Given the description of an element on the screen output the (x, y) to click on. 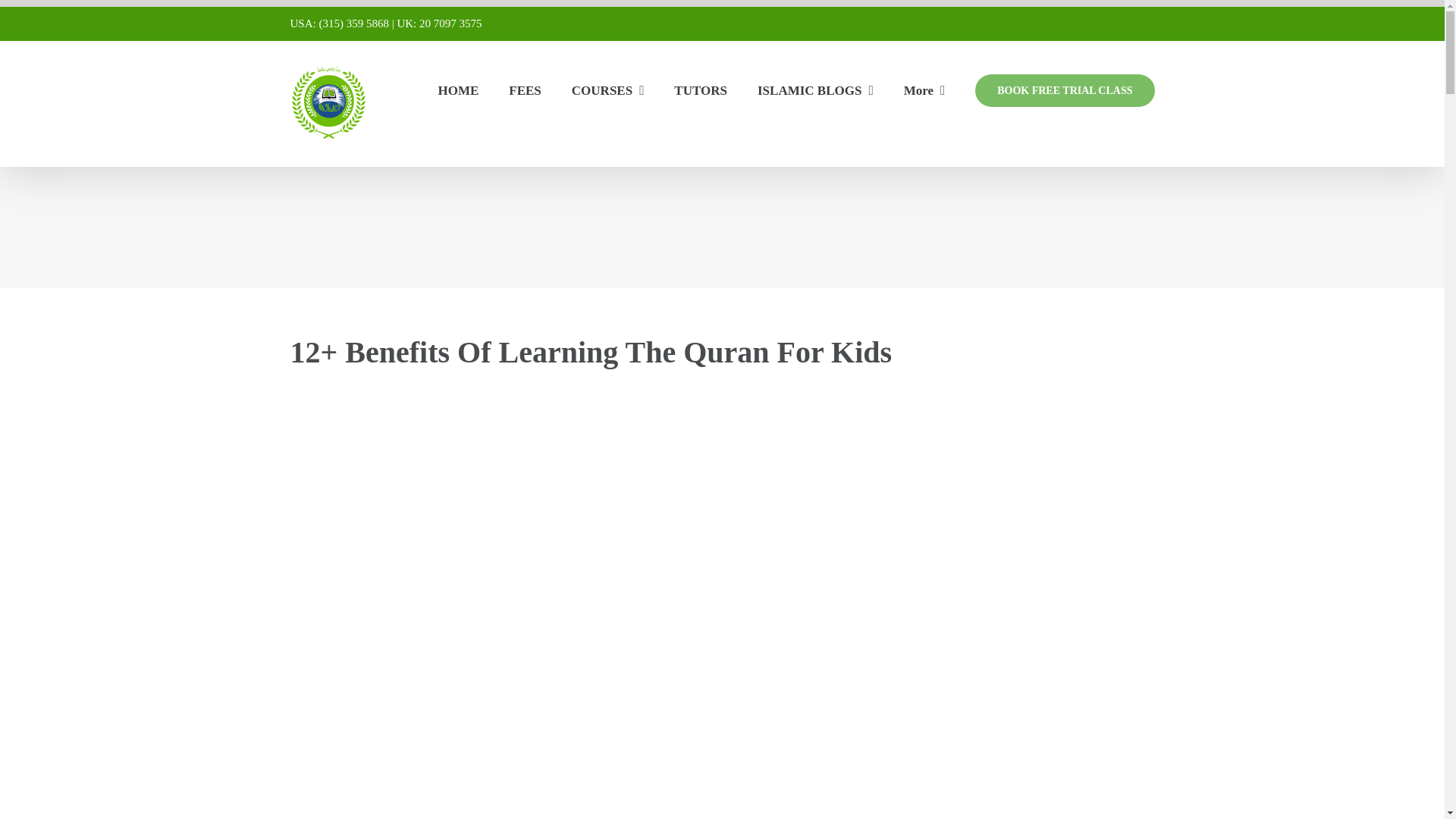
ISLAMIC BLOGS (815, 89)
BOOK FREE TRIAL CLASS (1064, 89)
UK: 20 7097 3575 (438, 23)
